Given the description of an element on the screen output the (x, y) to click on. 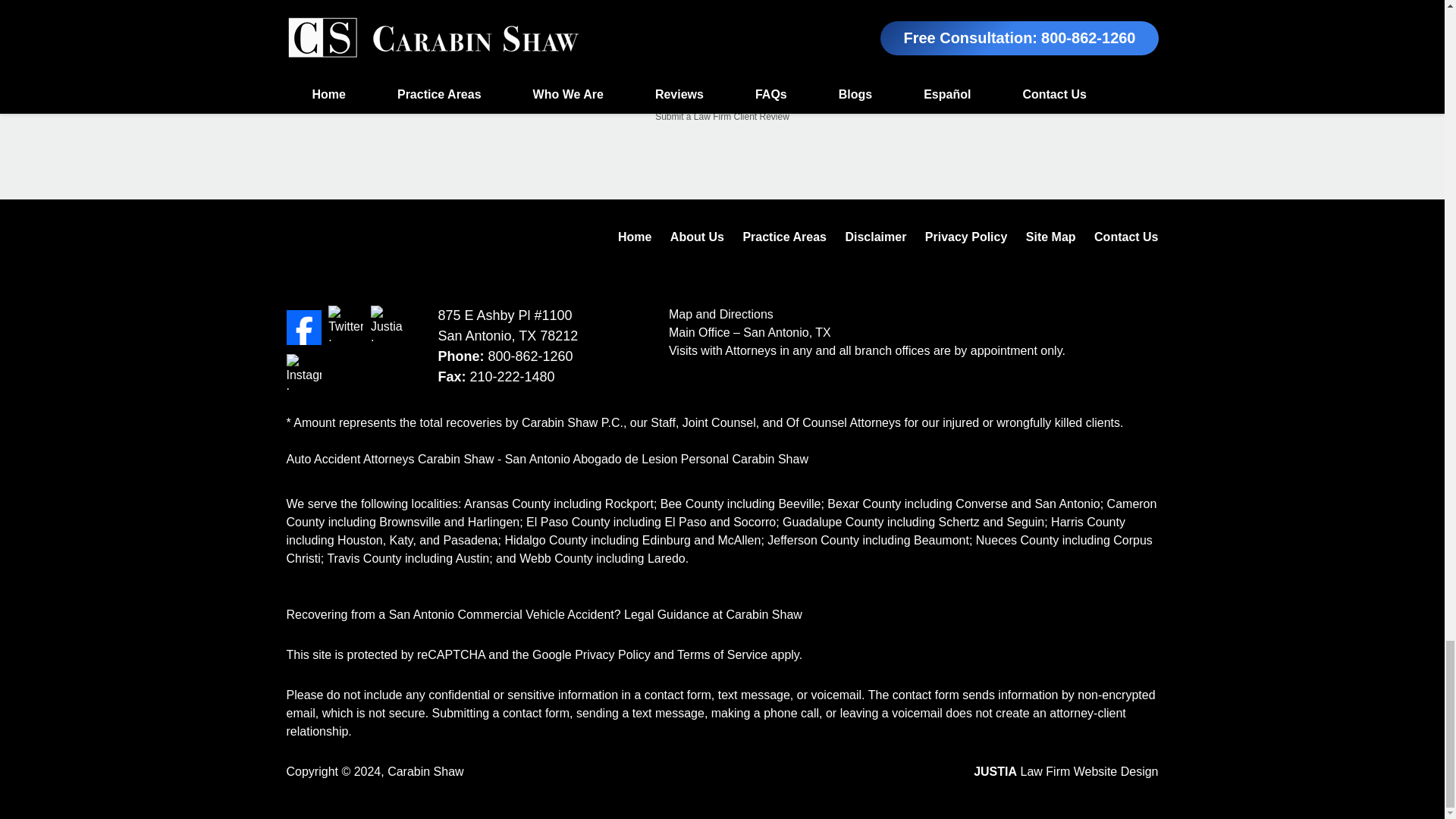
Justia (388, 322)
Facebook (303, 327)
Instagram (303, 371)
Twitter (345, 322)
